Given the description of an element on the screen output the (x, y) to click on. 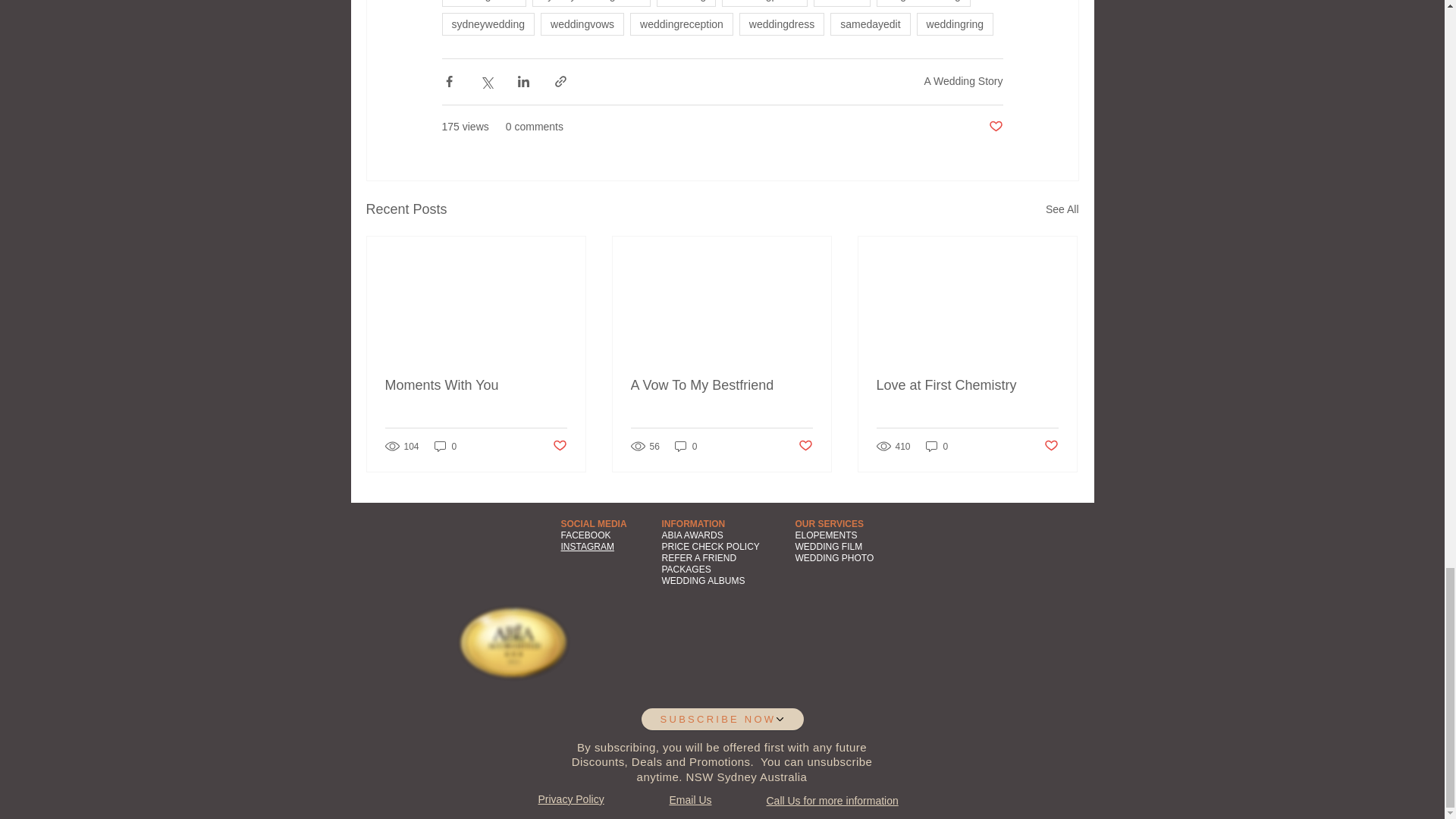
firstlook (841, 3)
weddingdress (781, 24)
Post not marked as liked (558, 446)
Post not marked as liked (995, 126)
Moments With You (476, 385)
Post not marked as liked (804, 446)
sydneyweddingvideo (591, 3)
See All (1061, 209)
A Wedding Story (963, 80)
Embedded Content (803, 695)
